Given the description of an element on the screen output the (x, y) to click on. 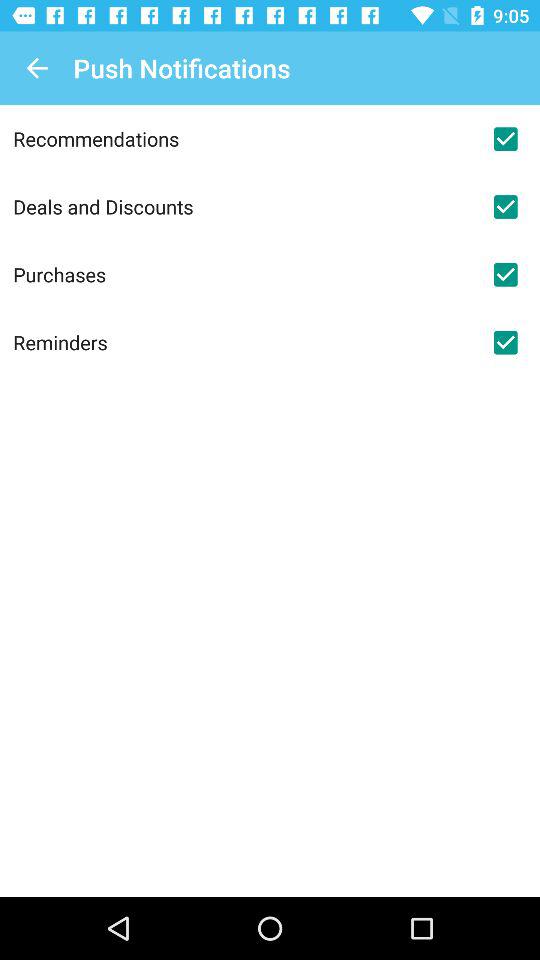
toggle deals and discounts (505, 207)
